Given the description of an element on the screen output the (x, y) to click on. 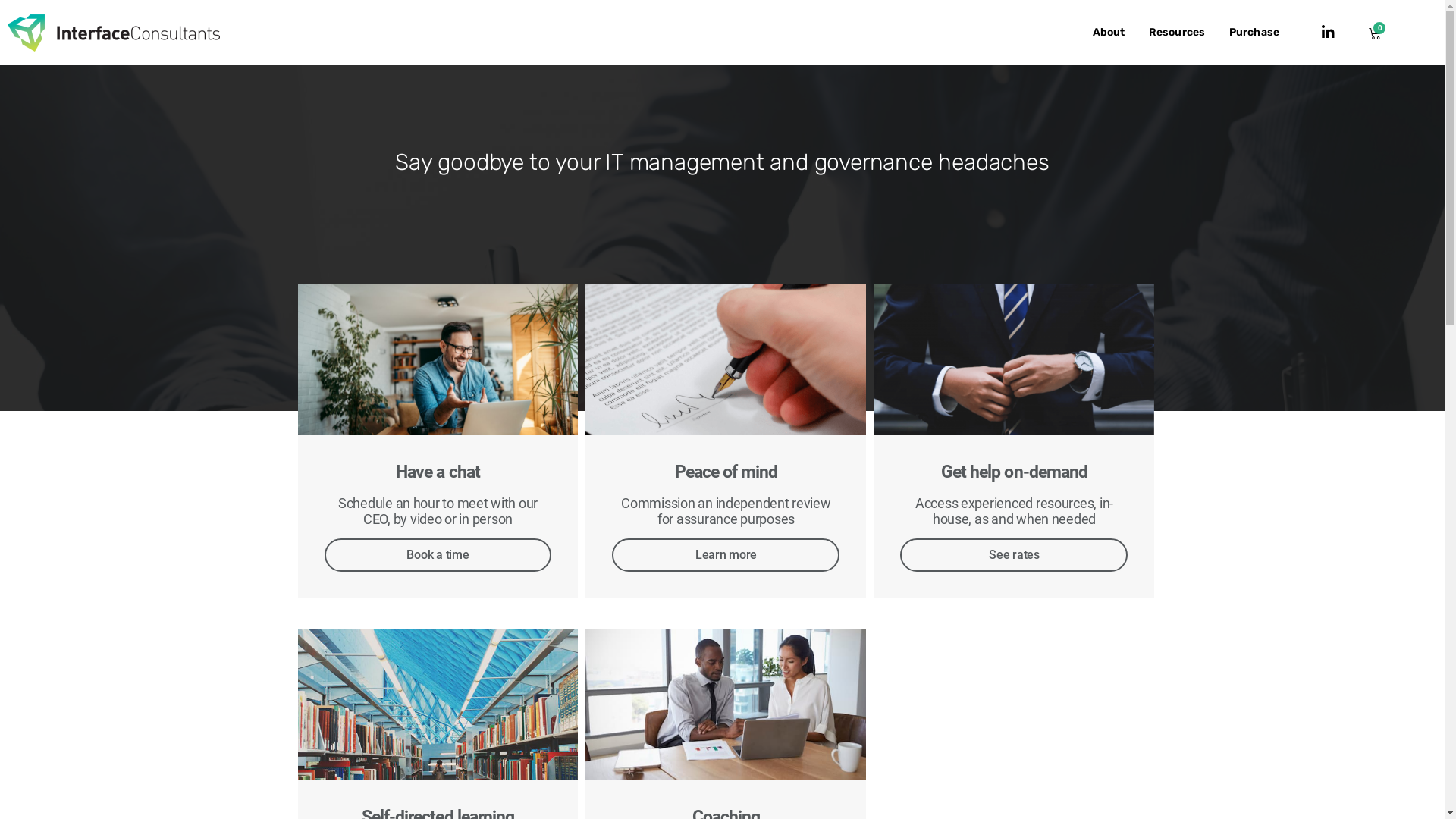
Learn more Element type: text (725, 554)
About Element type: text (1108, 32)
See rates Element type: text (1013, 554)
logo-interface-consultants Element type: hover (113, 31)
Book a time Element type: text (438, 554)
Resources Element type: text (1176, 32)
Purchase Element type: text (1254, 32)
